Given the description of an element on the screen output the (x, y) to click on. 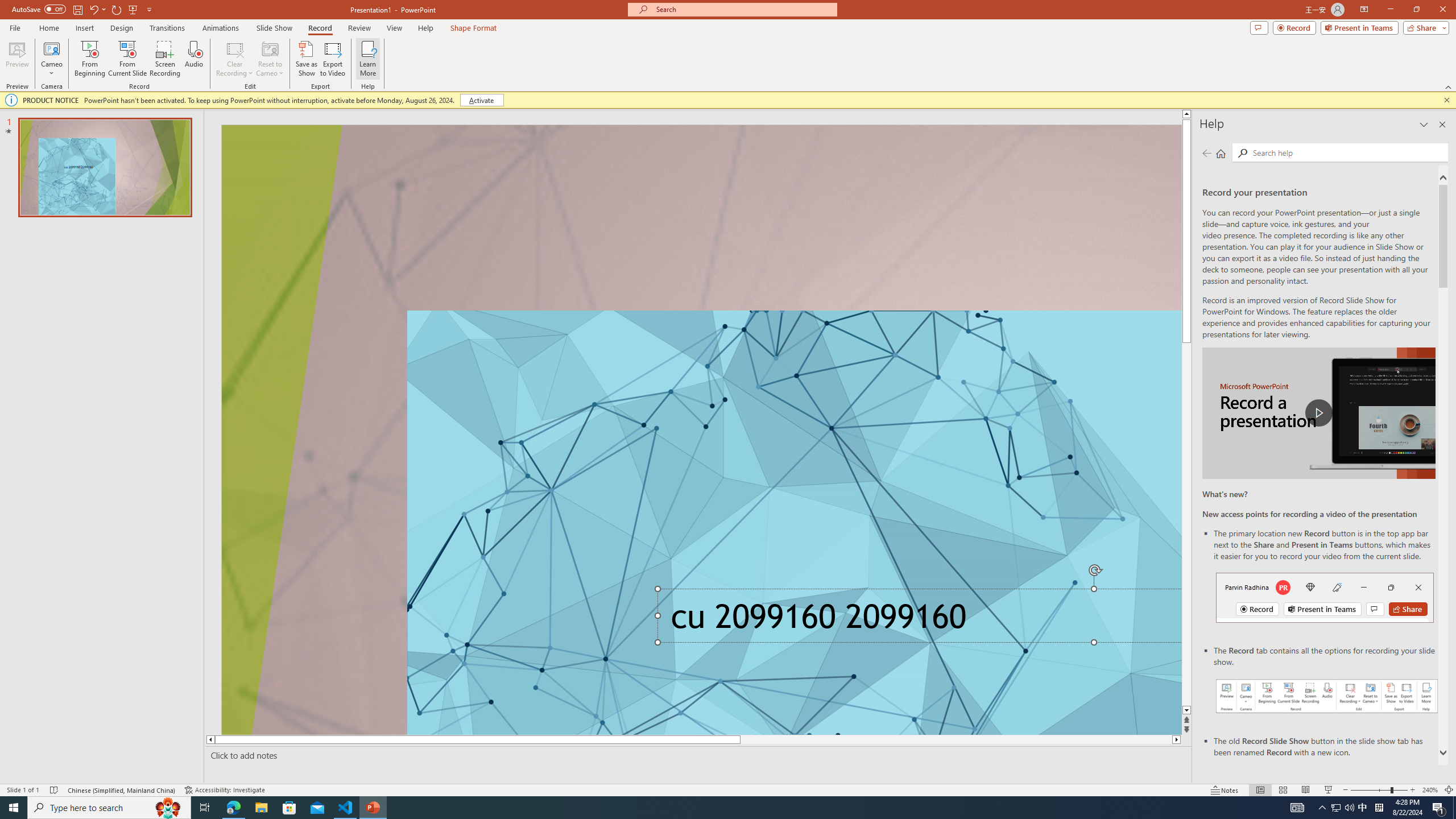
Close this message (1446, 99)
